Given the description of an element on the screen output the (x, y) to click on. 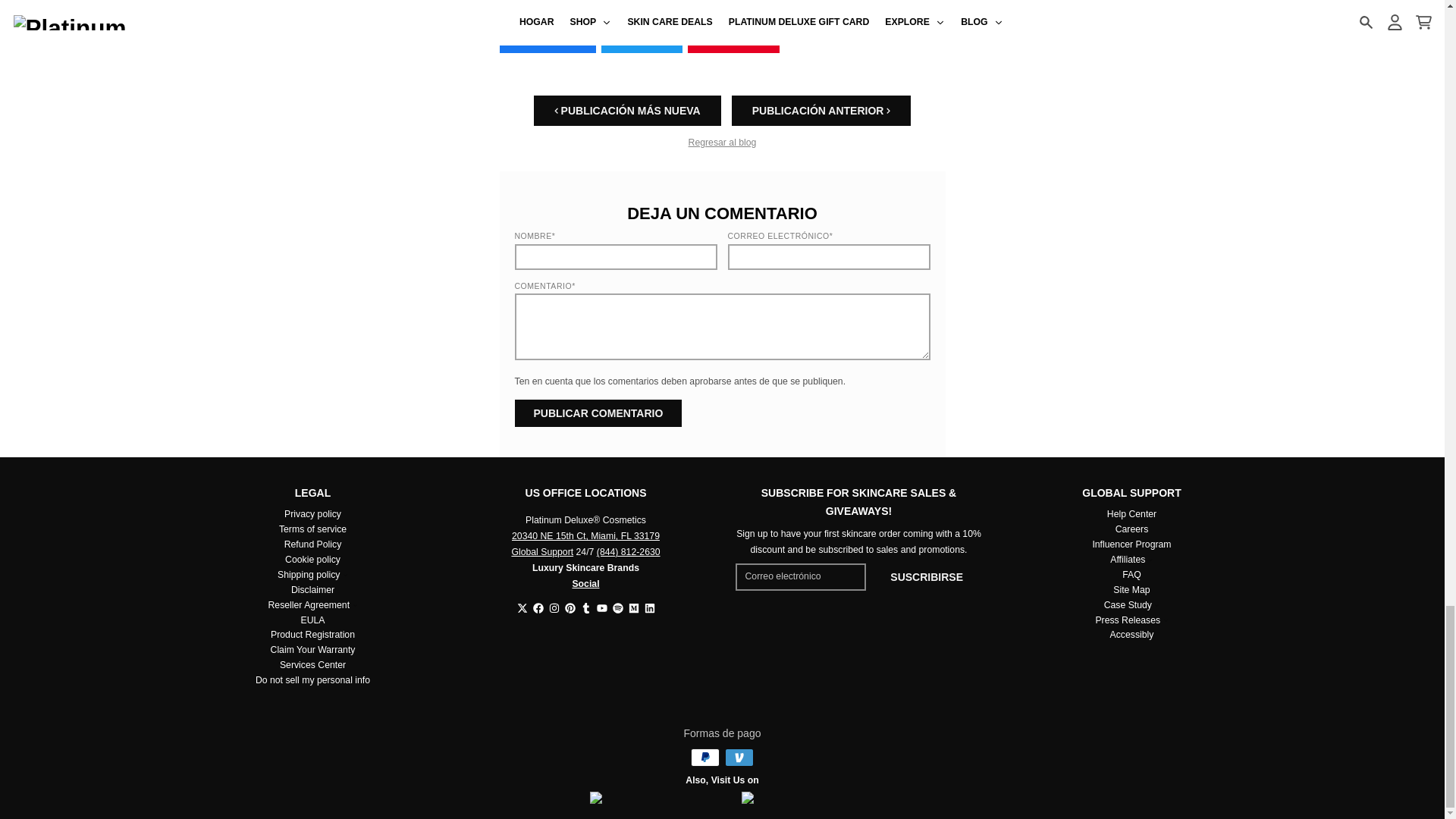
Facebook - Platinum Deluxe Cosmetics (537, 607)
Publicar comentario (597, 412)
Medium - Platinum Deluxe Cosmetics (633, 607)
Pinterest - Platinum Deluxe Cosmetics (569, 607)
YouTube - Platinum Deluxe Cosmetics (601, 607)
Instagram - Platinum Deluxe Cosmetics (553, 607)
Spotify - Platinum Deluxe Cosmetics (617, 607)
Tumblr - Platinum Deluxe Cosmetics (585, 607)
Twitter - Platinum Deluxe Cosmetics (521, 607)
LinkedIn - Platinum Deluxe Cosmetics (650, 607)
